Given the description of an element on the screen output the (x, y) to click on. 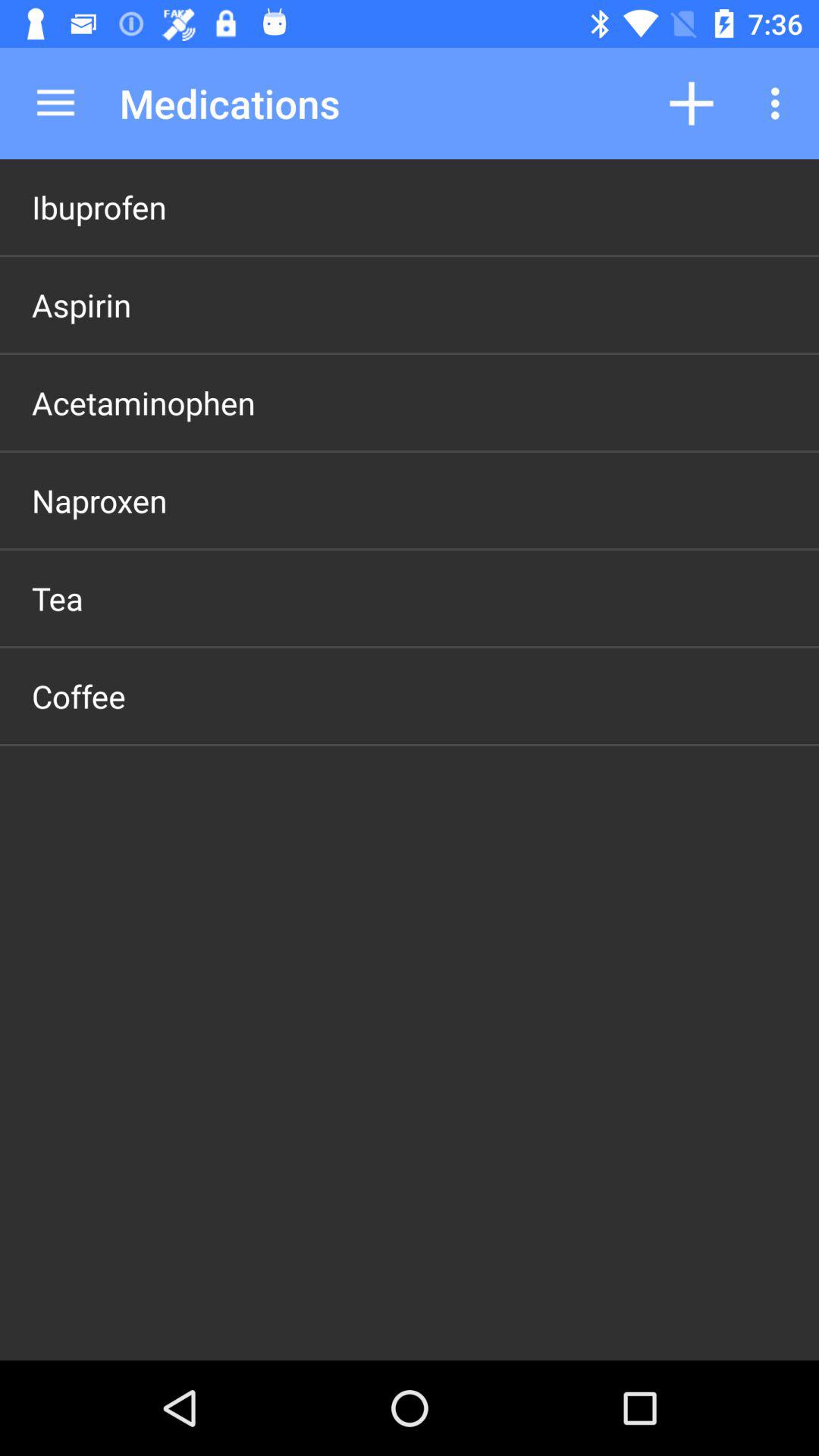
turn on the app below the acetaminophen item (99, 500)
